Given the description of an element on the screen output the (x, y) to click on. 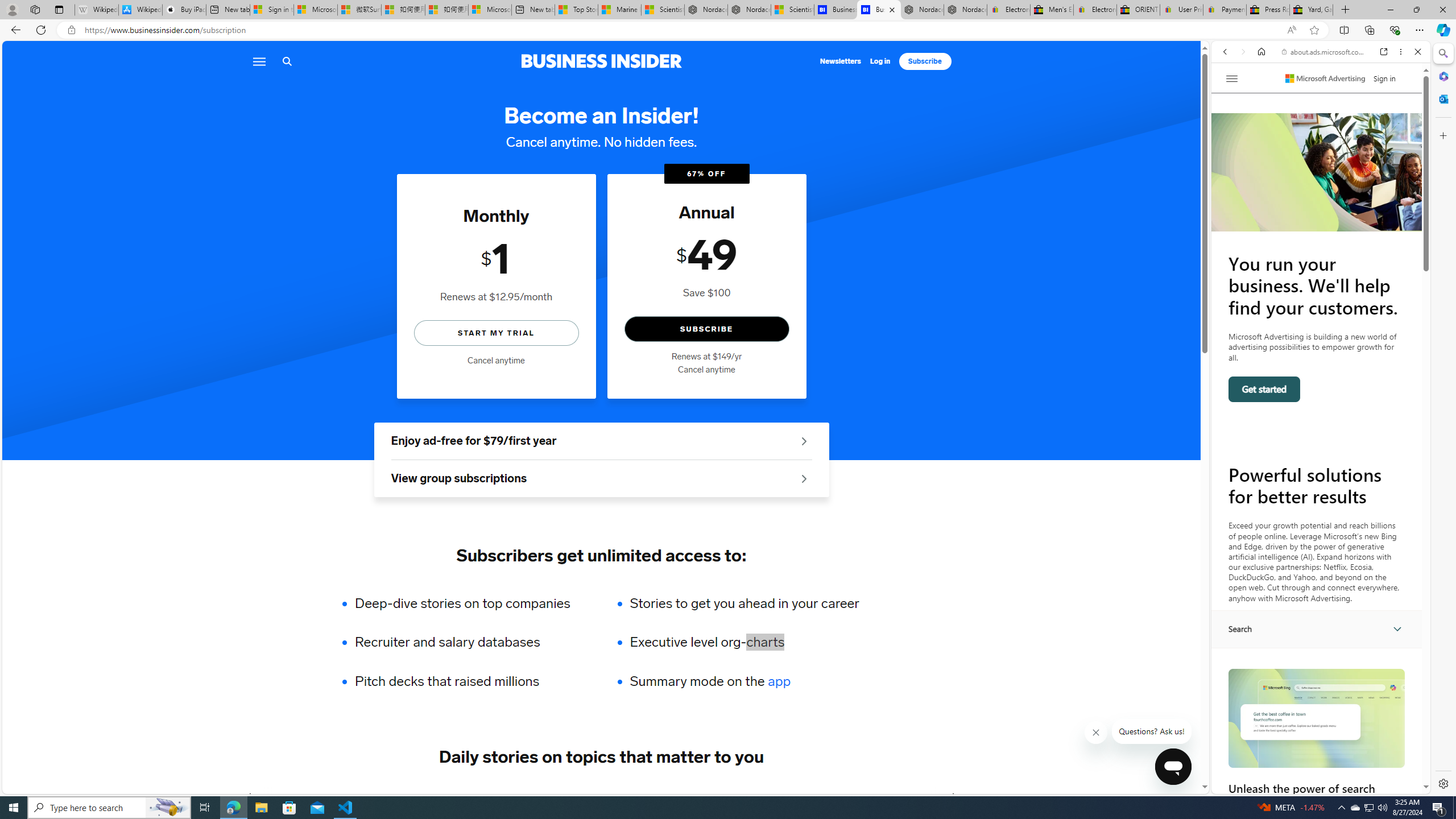
Menu (257, 61)
Get started (1264, 388)
STRATEGY (890, 796)
START MY TRIAL (496, 332)
TECH (280, 796)
Cancel anytime (706, 369)
Class: sc-1k07fow-1 cbnSms (1173, 766)
Questions? Ask us! (1152, 731)
